Given the description of an element on the screen output the (x, y) to click on. 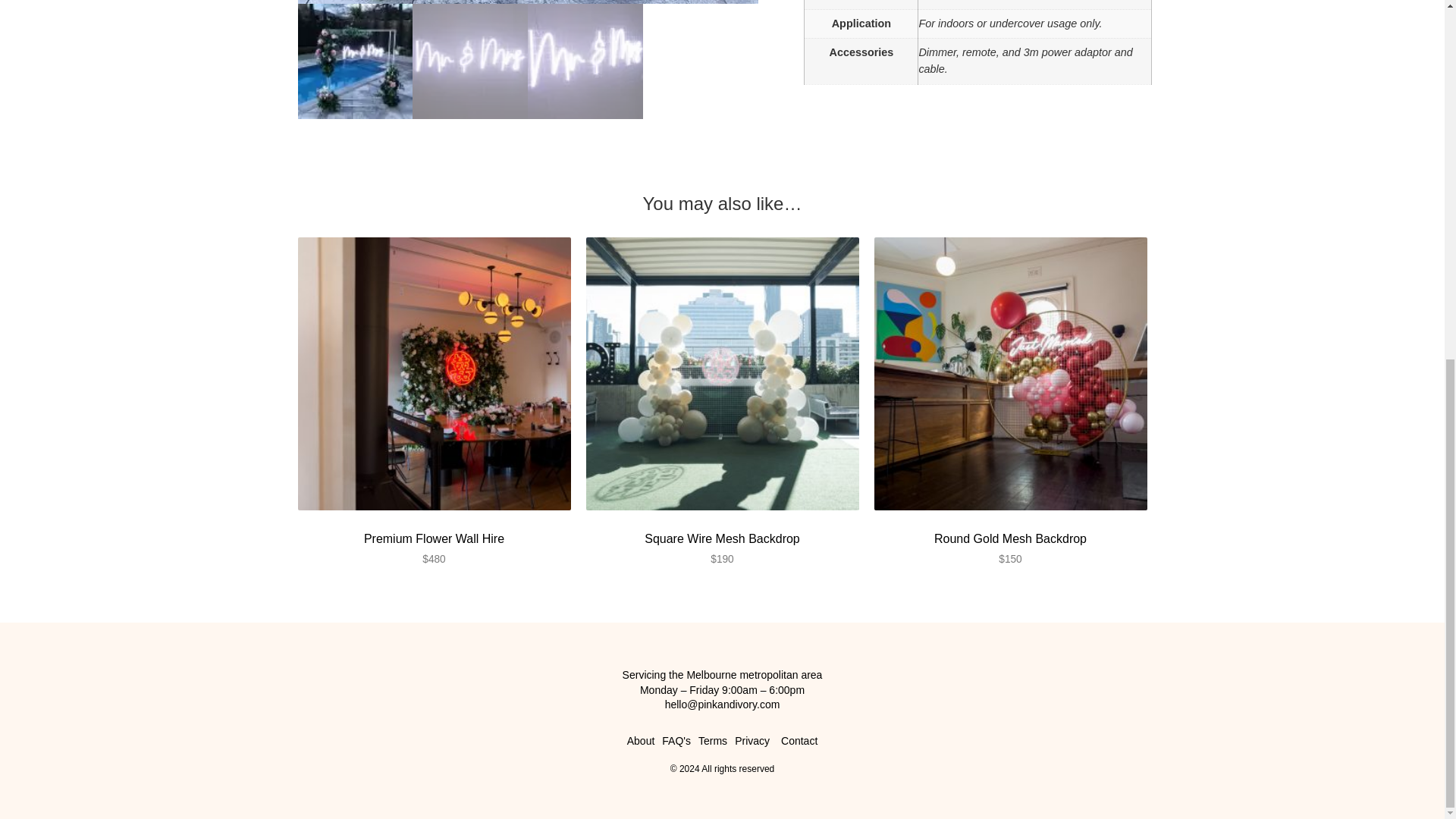
Privacy (752, 741)
Terms (712, 741)
About (641, 741)
Contact (796, 741)
FAQ's (676, 741)
